Given the description of an element on the screen output the (x, y) to click on. 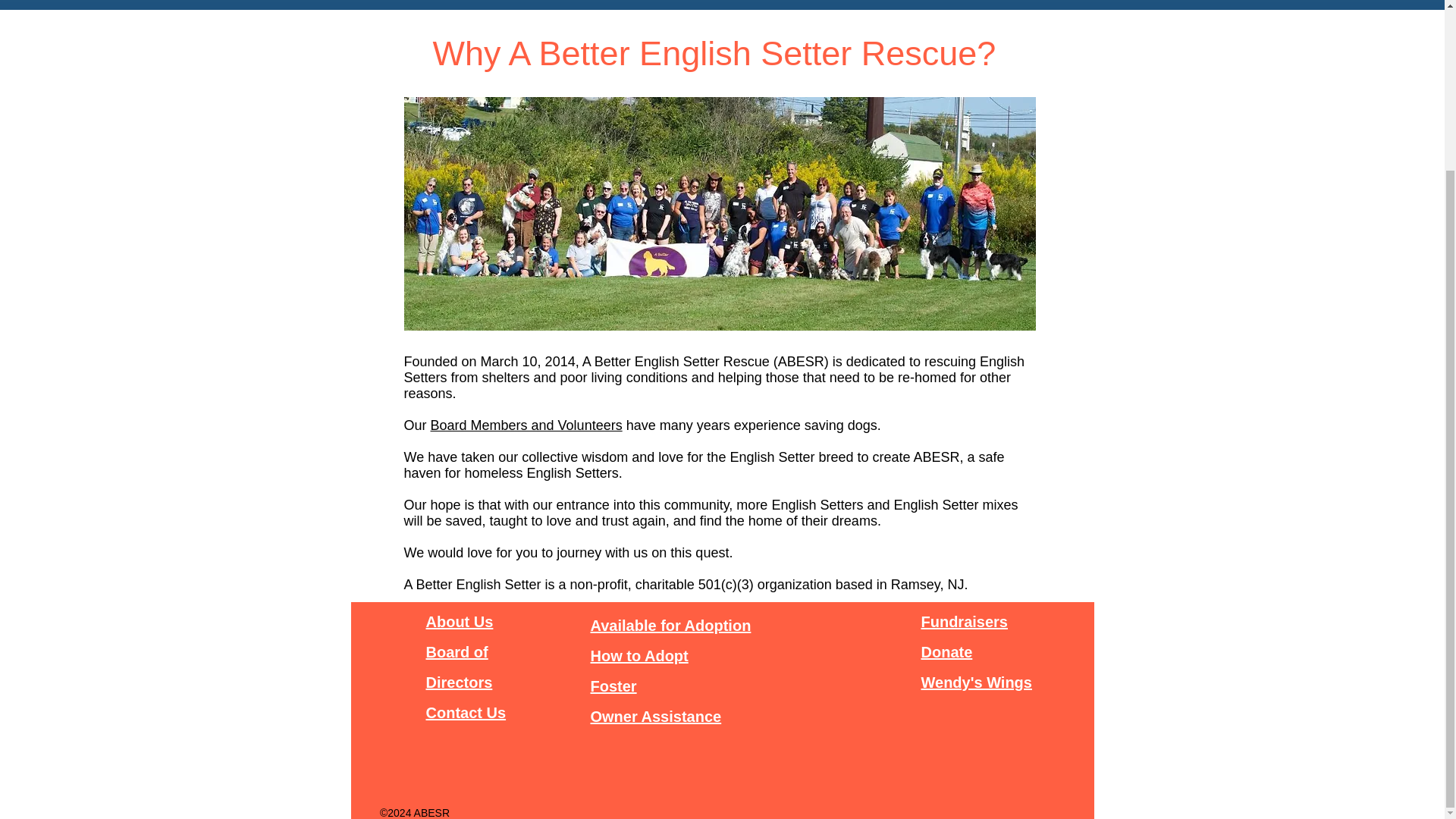
Home (429, 2)
Contact Us (466, 712)
Available for Adoption (670, 625)
Transports (924, 2)
About Us (459, 621)
Board Members and Volunteers (526, 425)
Contact Us (840, 2)
Fundraisers (963, 621)
The Breed (682, 2)
How to Adopt (638, 655)
